Given the description of an element on the screen output the (x, y) to click on. 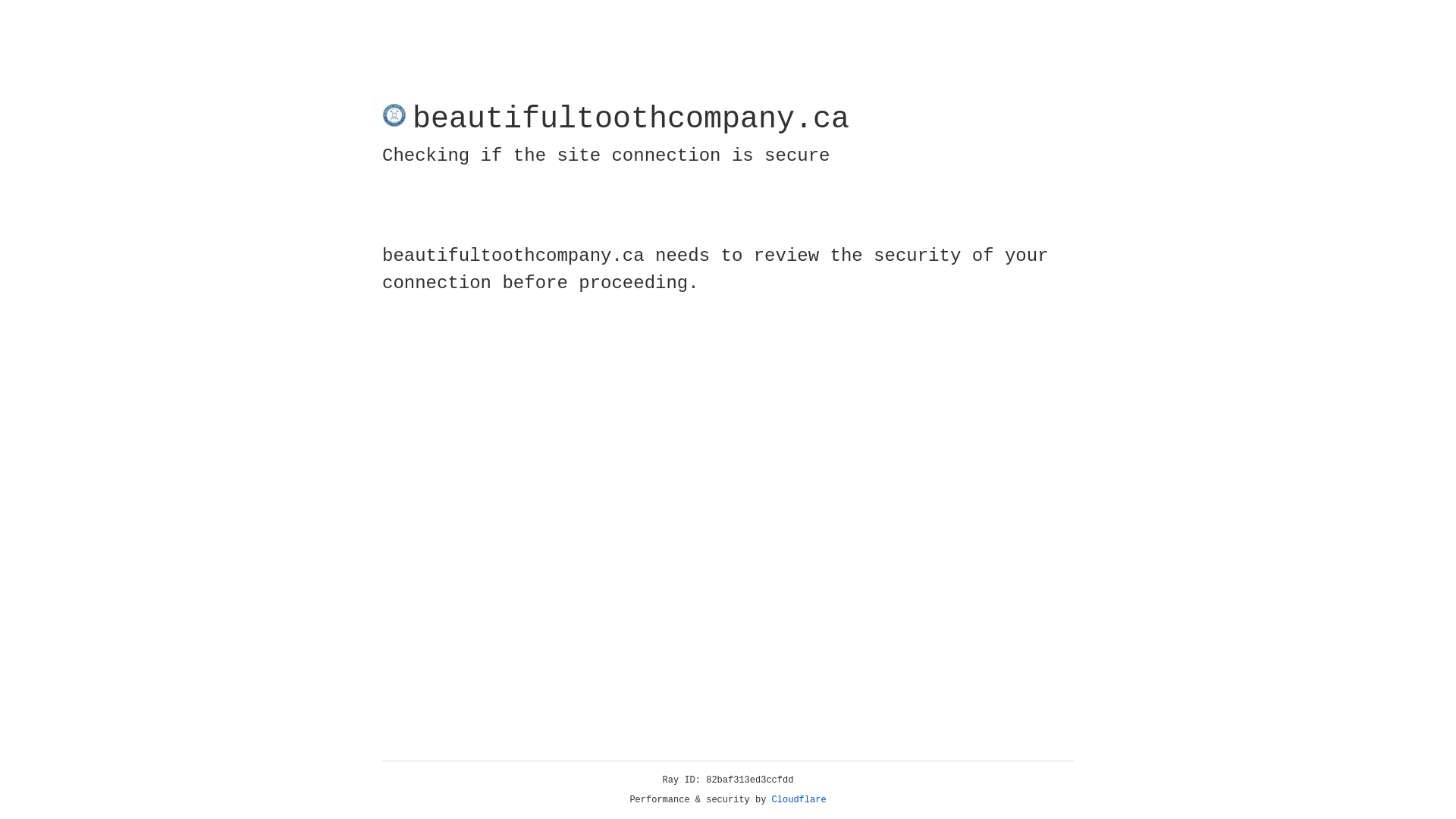
Cloudflare Element type: text (798, 799)
